Given the description of an element on the screen output the (x, y) to click on. 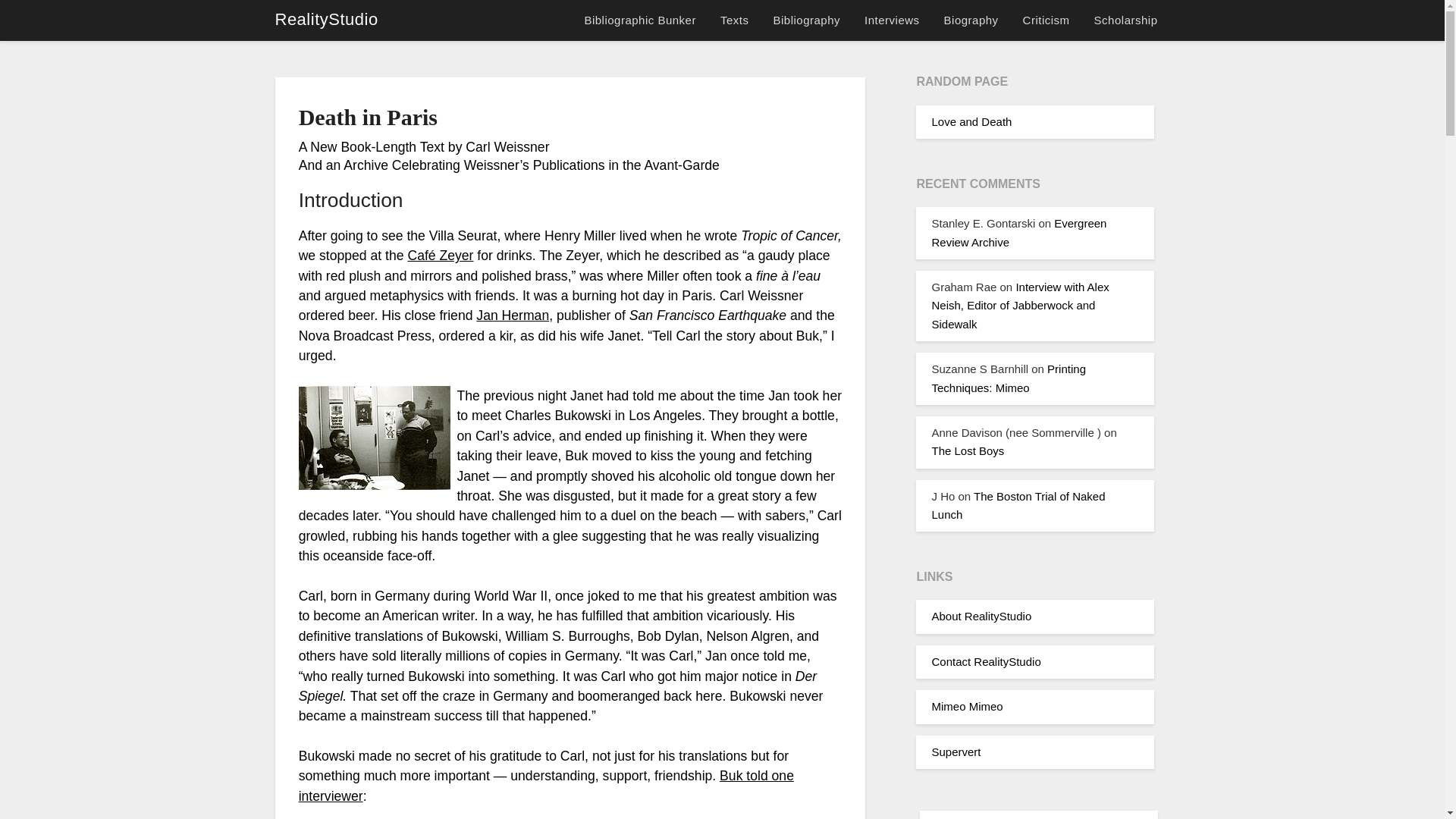
Interviews (891, 20)
Bibliographic Bunker (645, 20)
RealityStudio (326, 19)
Jan Herman (512, 314)
Criticism (1045, 20)
Bibliography (805, 20)
Biography (970, 20)
Scholarship (1125, 20)
Texts (734, 20)
Buk told one interviewer (545, 785)
